Given the description of an element on the screen output the (x, y) to click on. 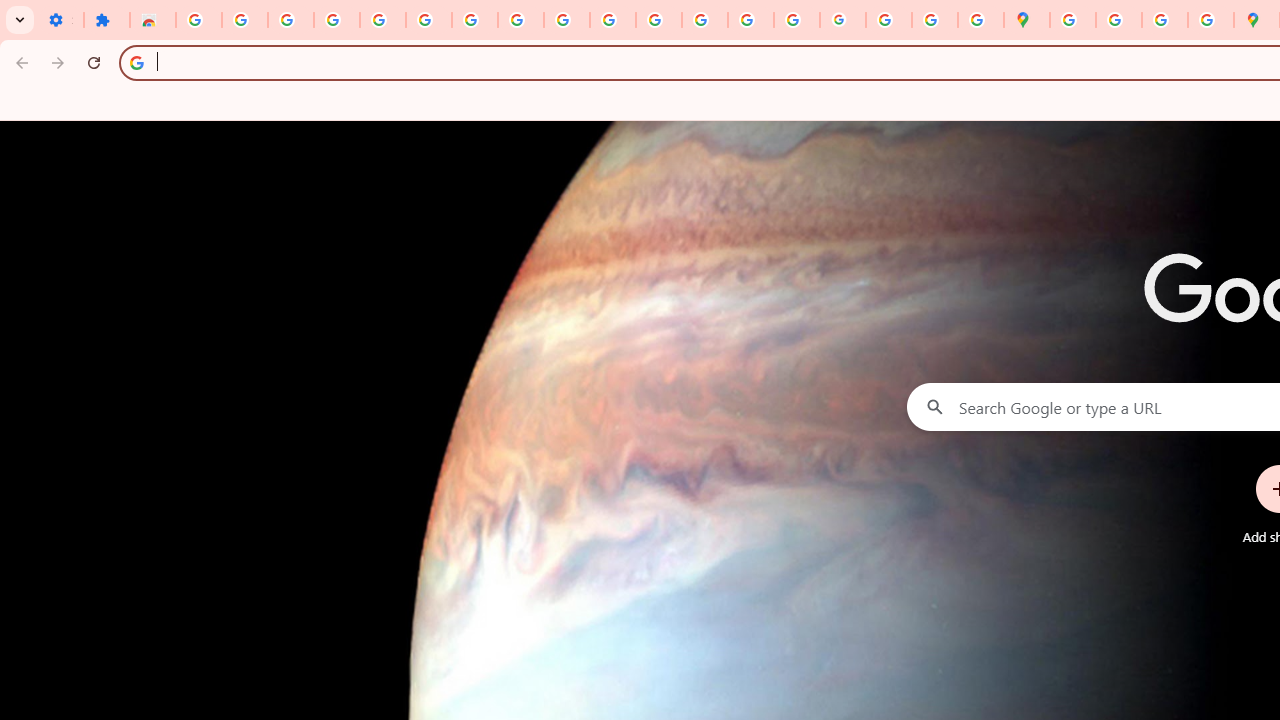
Sign in - Google Accounts (428, 20)
Google Account (520, 20)
Google Maps (1026, 20)
https://scholar.google.com/ (659, 20)
